Given the description of an element on the screen output the (x, y) to click on. 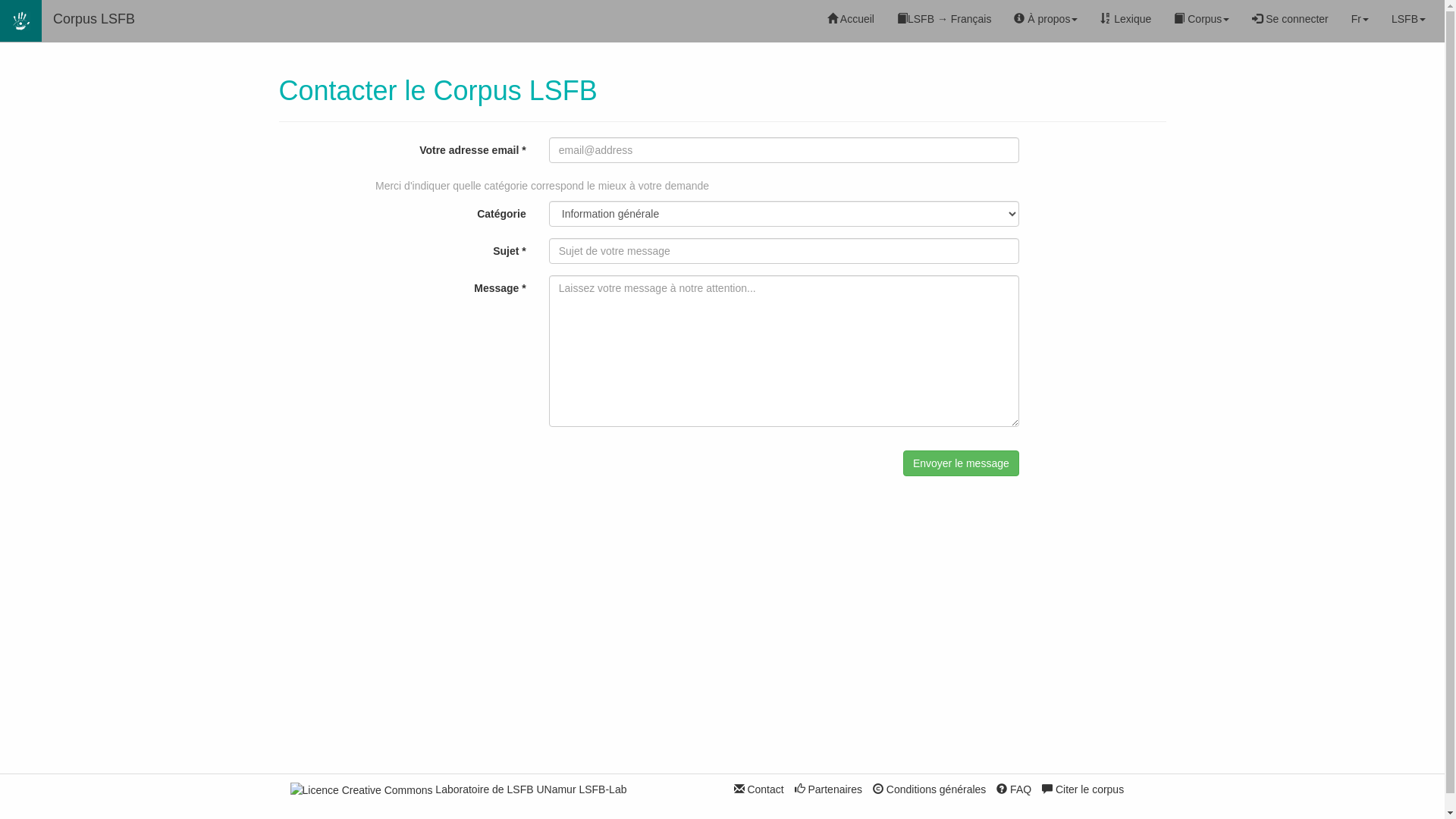
Corpus LSFB Element type: text (93, 18)
Lexique Element type: text (1125, 18)
Fr Element type: text (1359, 18)
Corpus Element type: text (1201, 18)
Contact Element type: text (759, 789)
Citer le corpus Element type: text (1082, 789)
Laboratoire de LSFB UNamur LSFB-Lab Element type: text (530, 789)
Accueil Element type: text (850, 18)
Partenaires Element type: text (828, 789)
Envoyer le message Element type: text (961, 463)
FAQ Element type: text (1013, 789)
LSFB Element type: text (1408, 18)
Se connecter Element type: text (1289, 18)
